Given the description of an element on the screen output the (x, y) to click on. 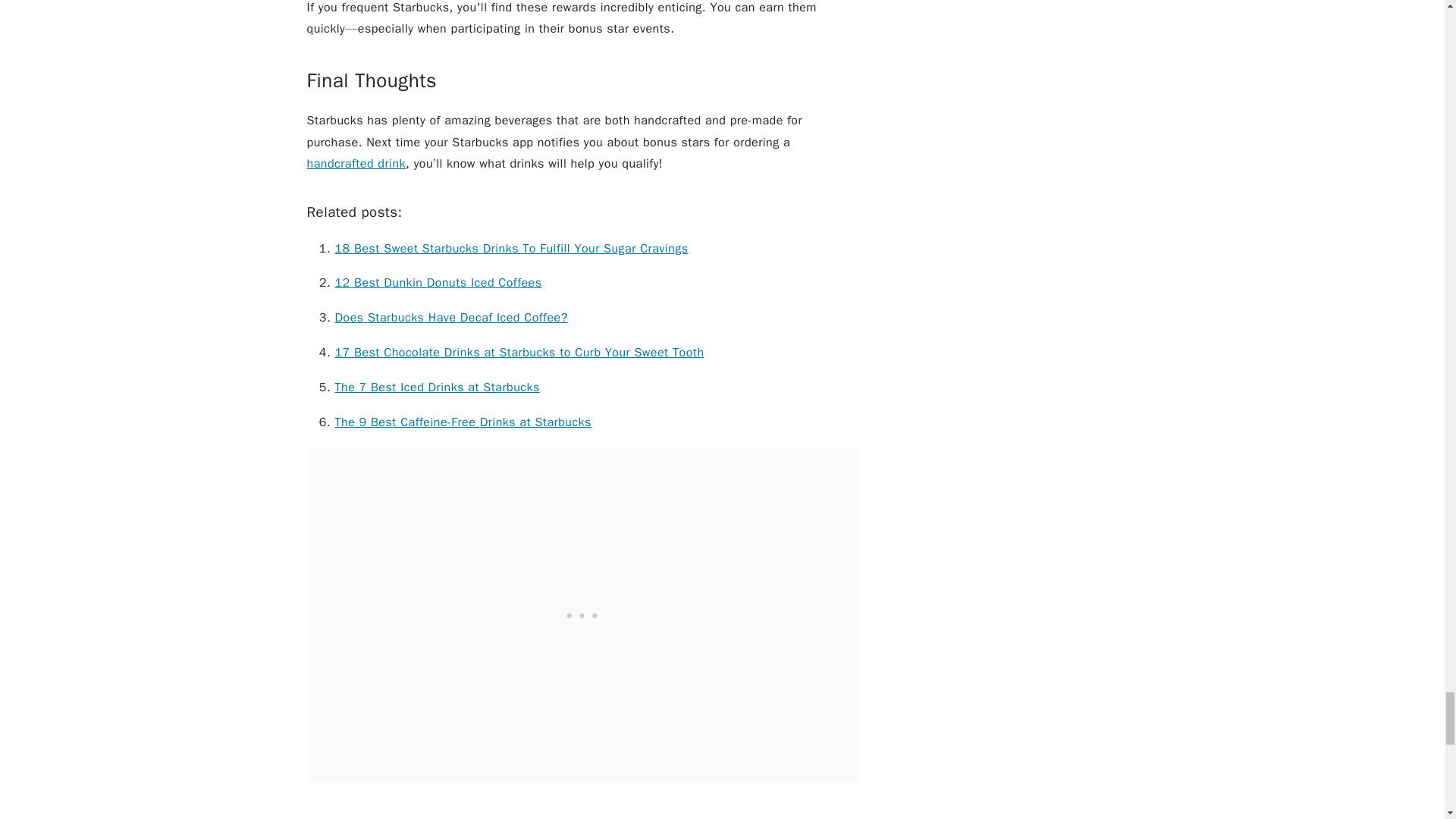
The 9 Best Caffeine-Free Drinks at Starbucks (462, 421)
12 Best Dunkin Donuts Iced Coffees (437, 282)
Does Starbucks Have Decaf Iced Coffee? (450, 317)
The 7 Best Iced Drinks at Starbucks (437, 387)
